Given the description of an element on the screen output the (x, y) to click on. 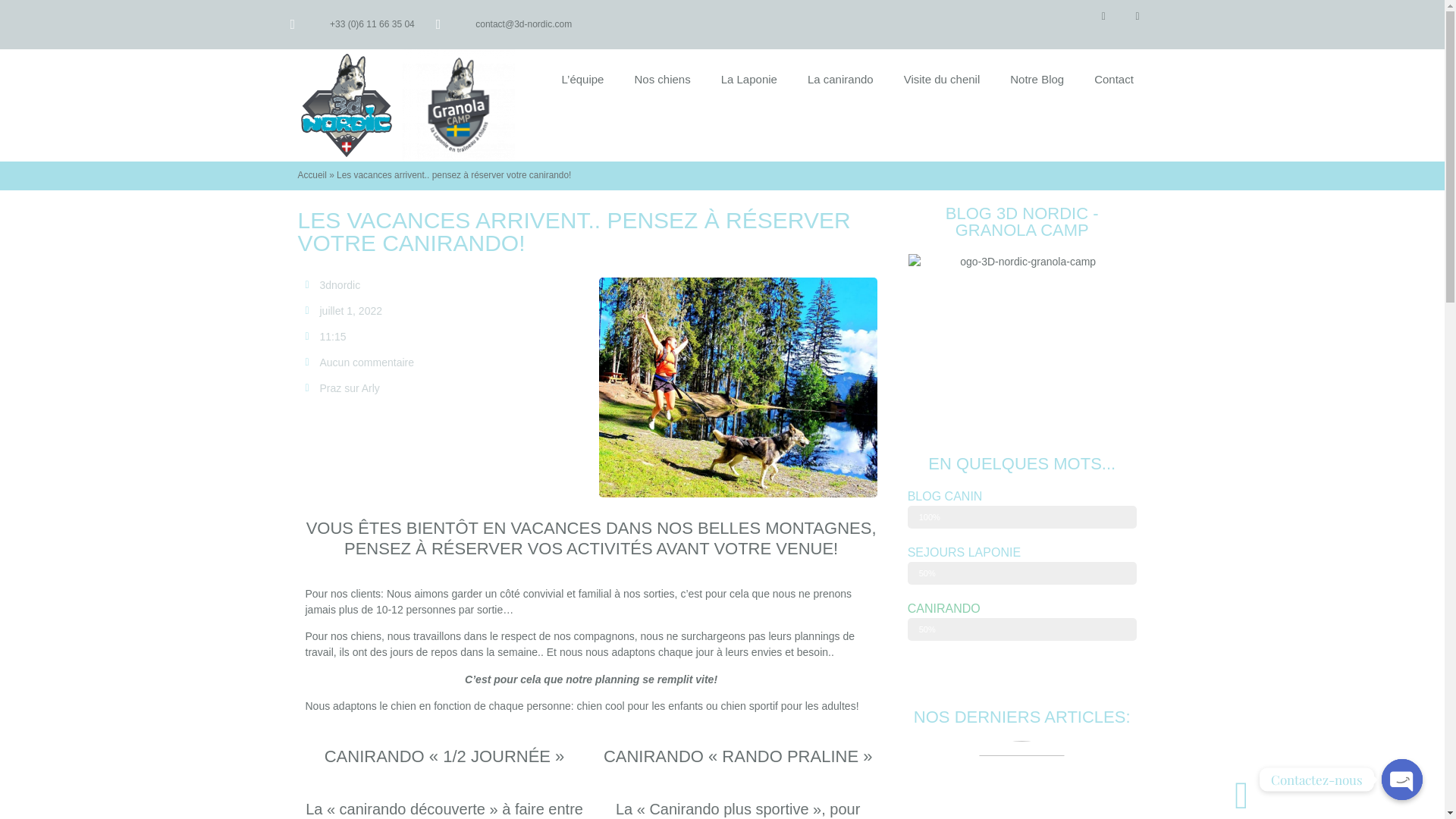
La canirando Element type: text (840, 79)
Notre Blog Element type: text (1036, 79)
Contact Element type: text (1113, 79)
3dnordic Element type: text (332, 285)
Visite du chenil Element type: text (941, 79)
La Laponie Element type: text (749, 79)
Nos chiens Element type: text (661, 79)
juillet 1, 2022 Element type: text (343, 311)
Aucun commentaire Element type: text (359, 362)
Accueil Element type: text (311, 174)
